Given the description of an element on the screen output the (x, y) to click on. 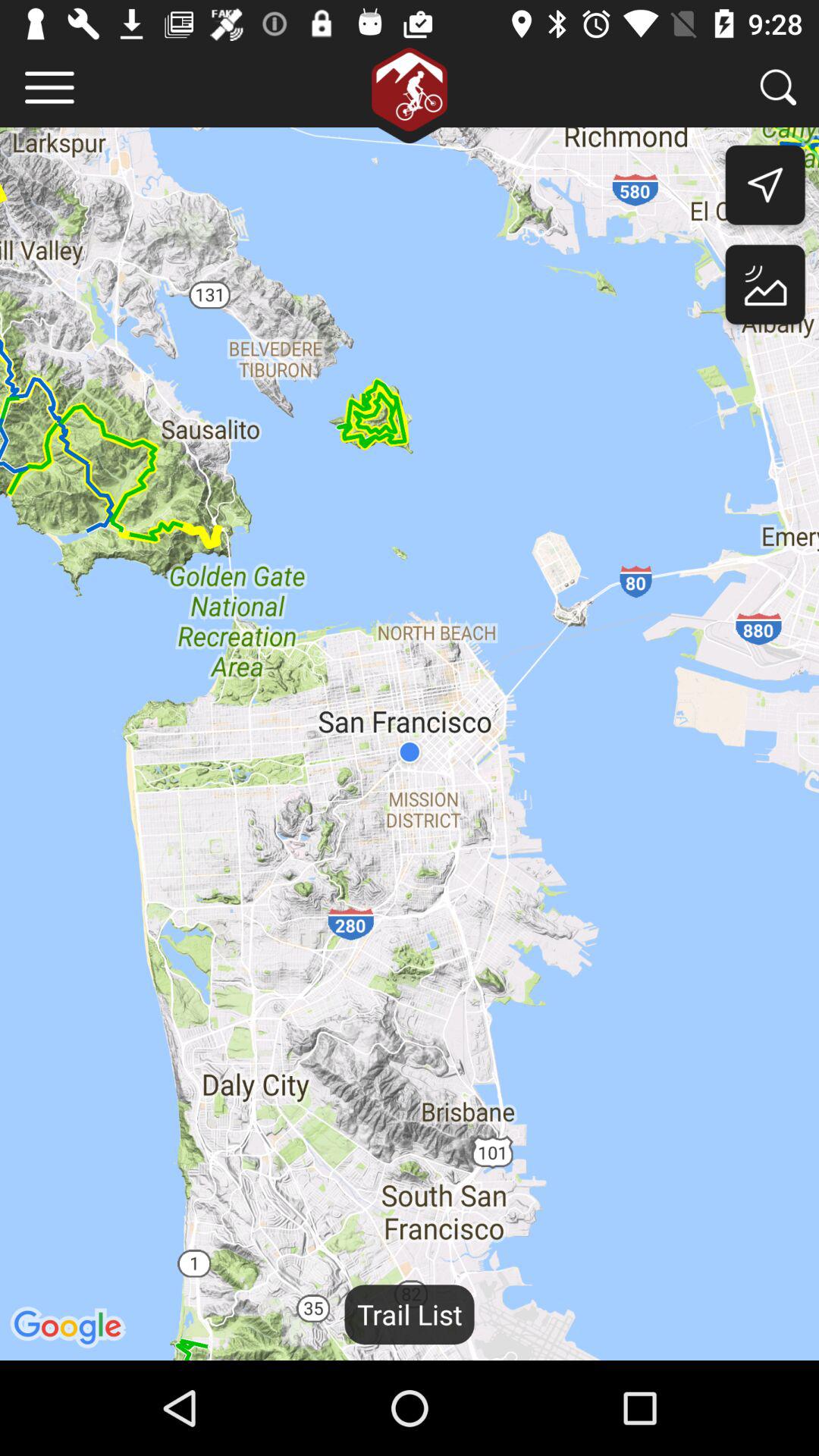
zoom (778, 87)
